Given the description of an element on the screen output the (x, y) to click on. 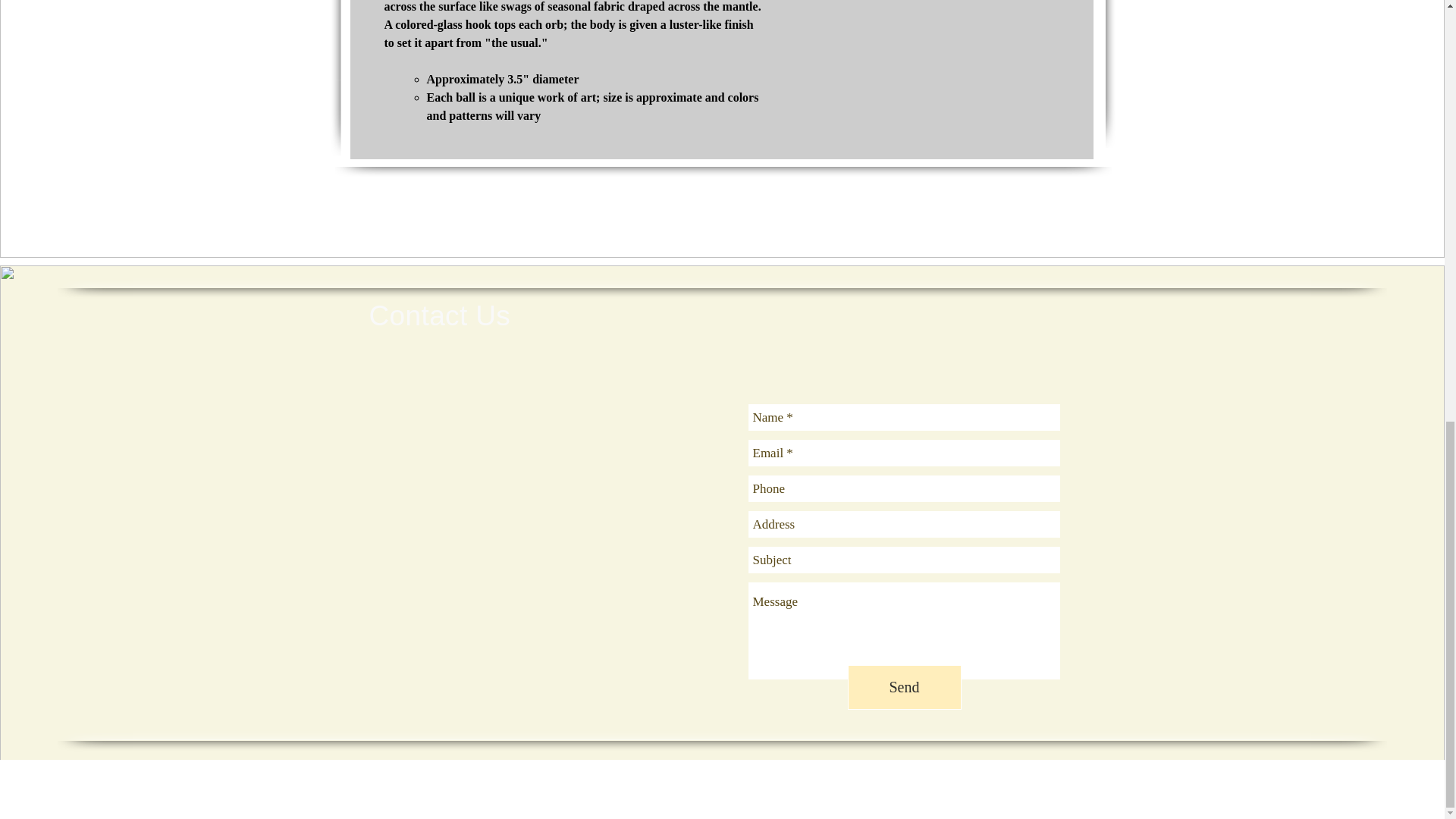
Send (903, 687)
